Given the description of an element on the screen output the (x, y) to click on. 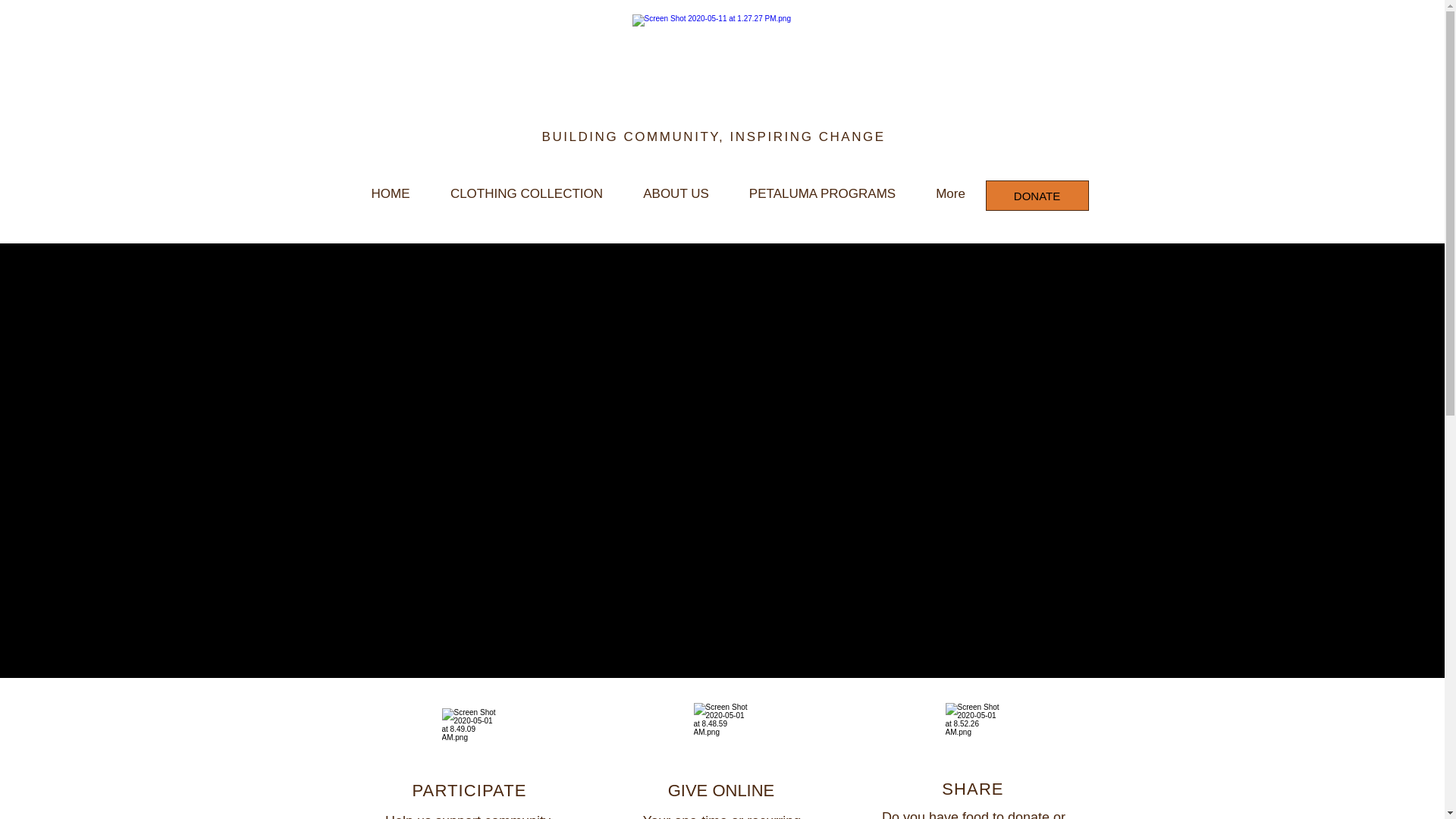
HOME (389, 193)
DONATE (1037, 195)
PETALUMA PROGRAMS (822, 193)
ABOUT US (676, 193)
CLOTHING COLLECTION (526, 193)
